Given the description of an element on the screen output the (x, y) to click on. 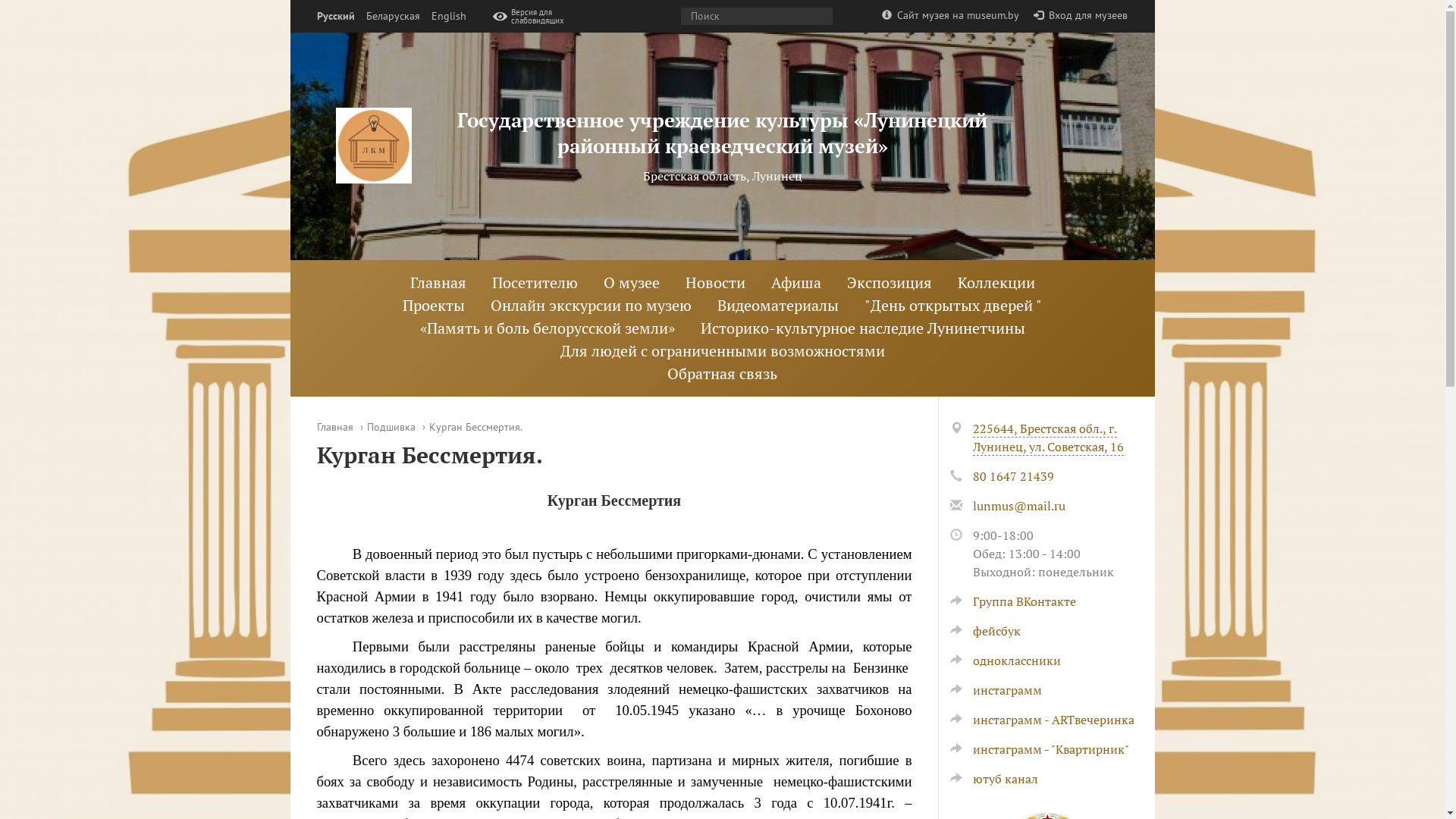
English Element type: text (447, 16)
80 1647 21439 Element type: text (1012, 476)
lunmus@mail.ru Element type: text (1018, 505)
